Given the description of an element on the screen output the (x, y) to click on. 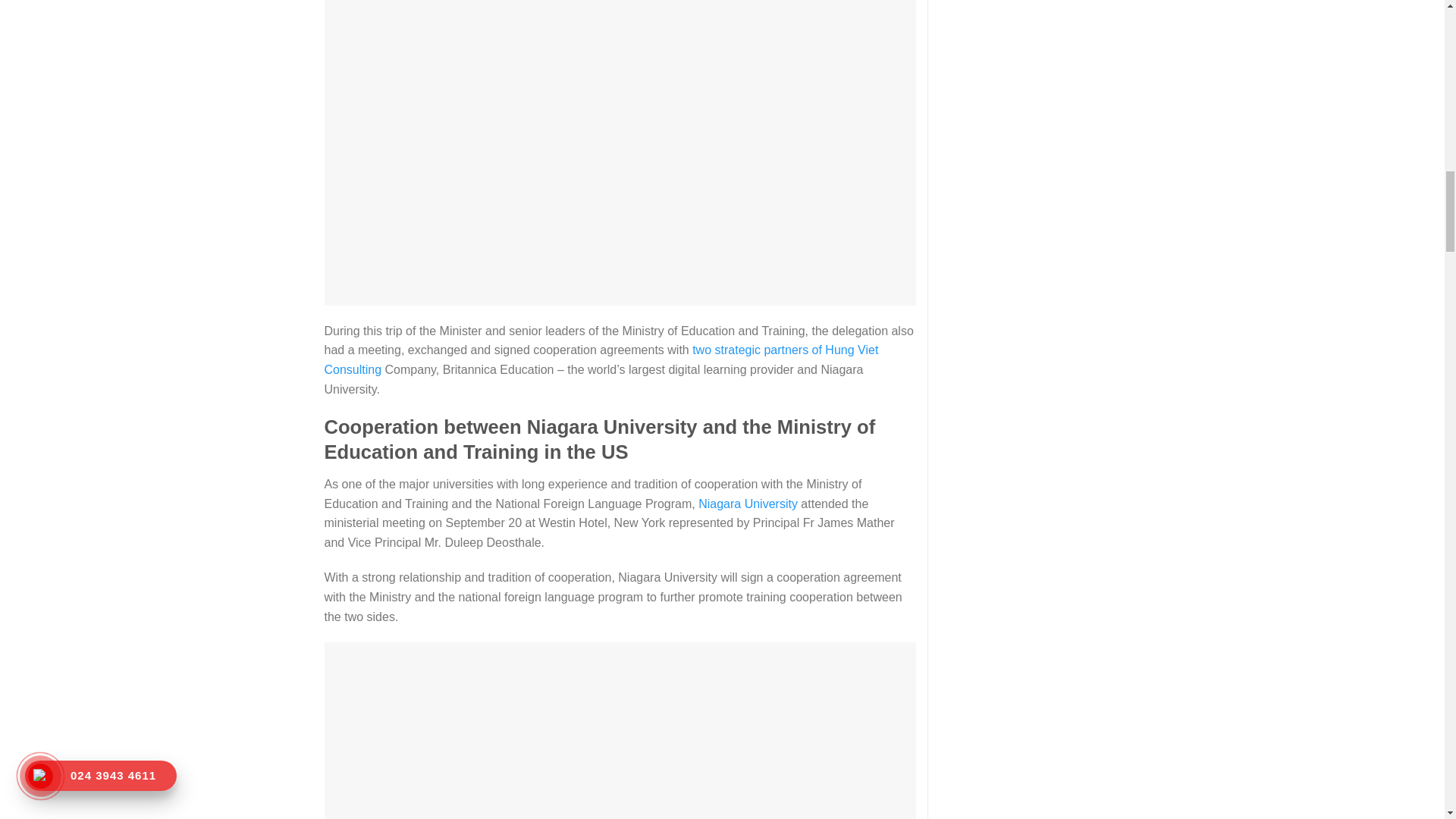
Niagara University (747, 503)
two strategic partners of Hung Viet Consulting (601, 359)
